Given the description of an element on the screen output the (x, y) to click on. 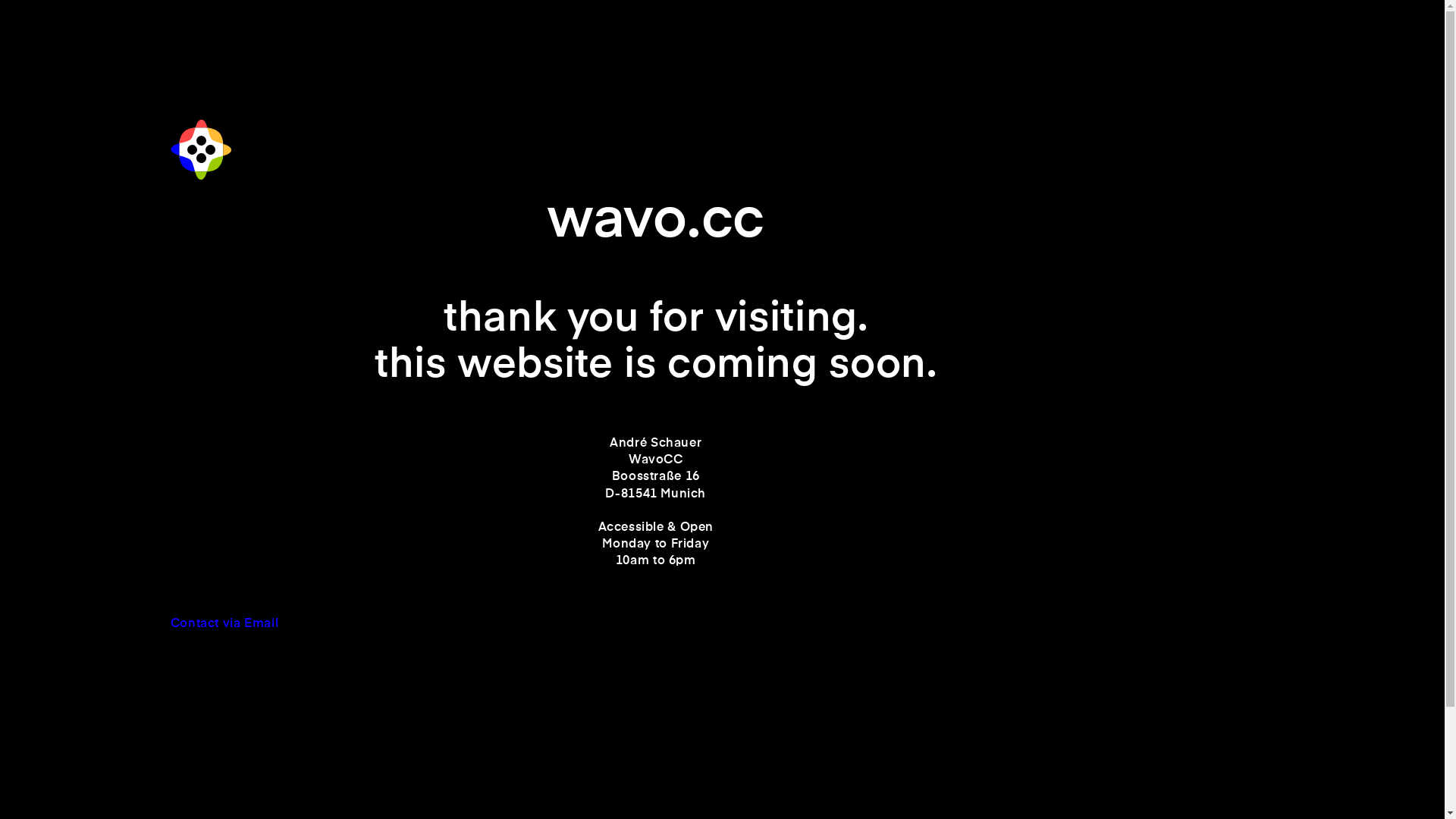
Contact via Email
Contact via Email Element type: text (655, 632)
